Given the description of an element on the screen output the (x, y) to click on. 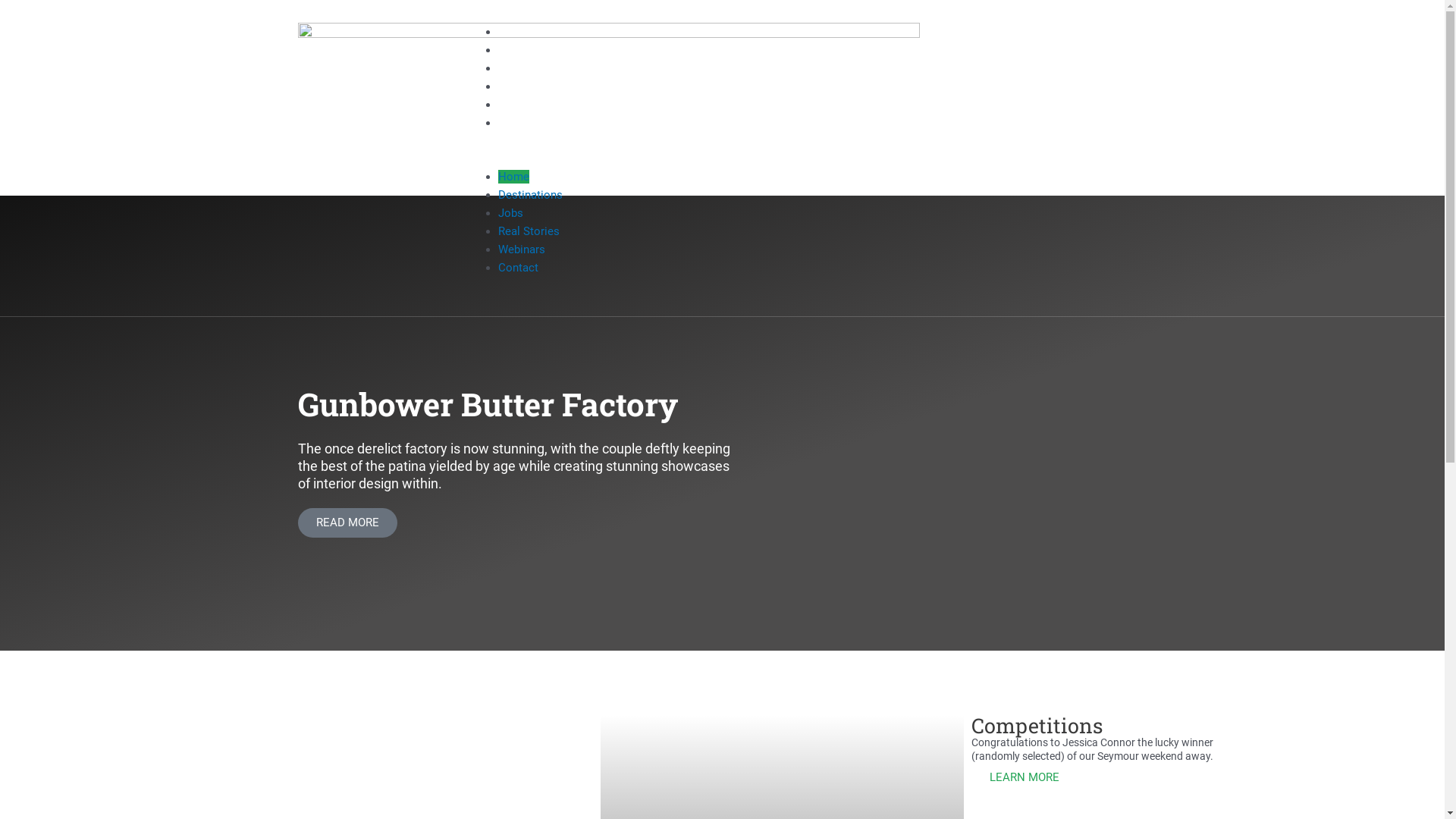
READ MORE Element type: text (346, 522)
Destinations Element type: text (530, 194)
Home Element type: text (513, 176)
Home Element type: text (513, 31)
Contact Element type: text (518, 267)
Destinations Element type: text (530, 49)
Contact Element type: text (518, 122)
Real Stories Element type: text (528, 231)
Jobs Element type: text (510, 68)
Jobs Element type: text (510, 212)
LEARN MORE Element type: text (1024, 777)
Gunbower Butter Factory Element type: text (487, 403)
Webinars Element type: text (521, 249)
Real Stories Element type: text (528, 86)
Webinars Element type: text (521, 104)
